Given the description of an element on the screen output the (x, y) to click on. 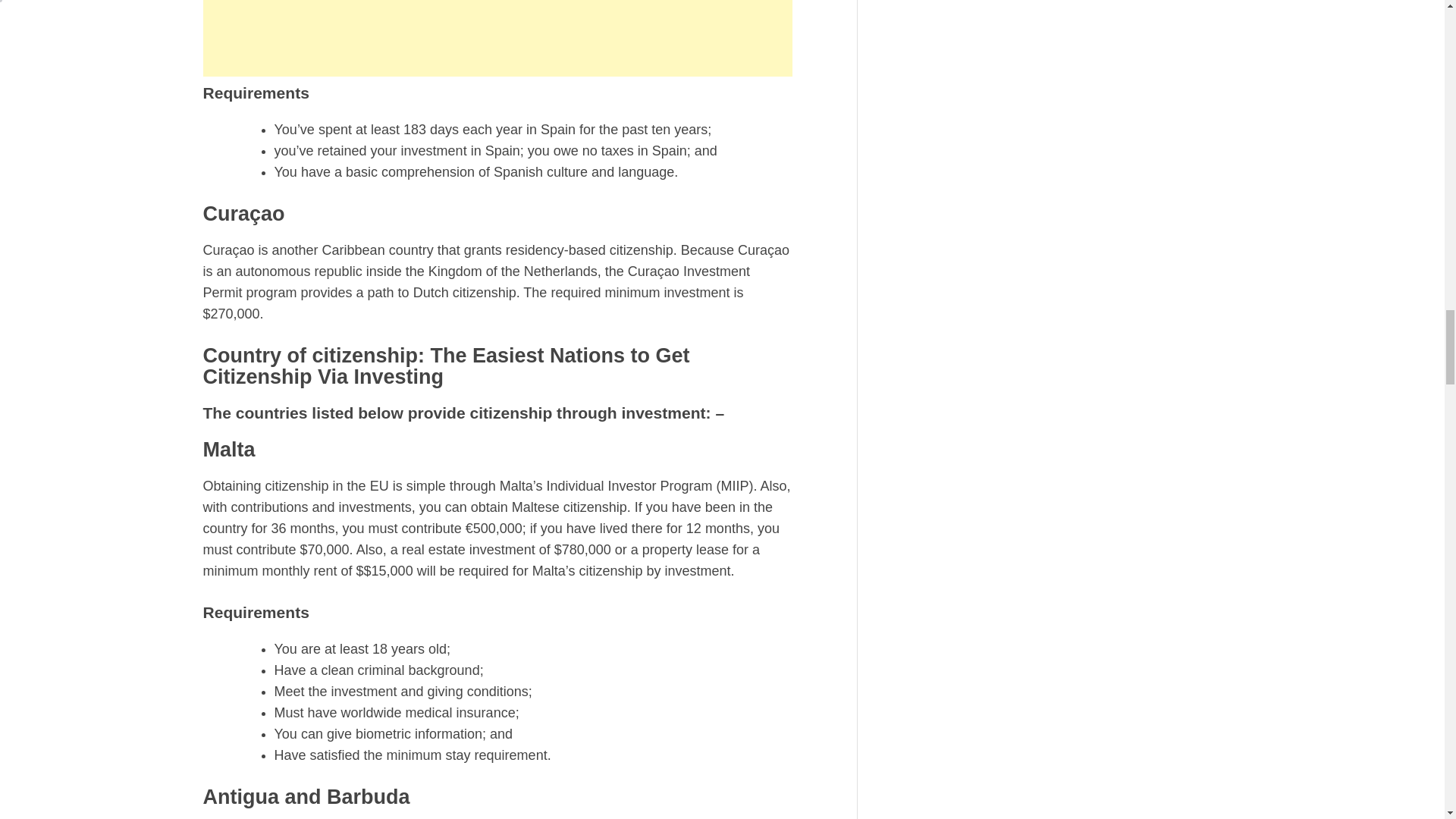
Advertisement (497, 38)
